Given the description of an element on the screen output the (x, y) to click on. 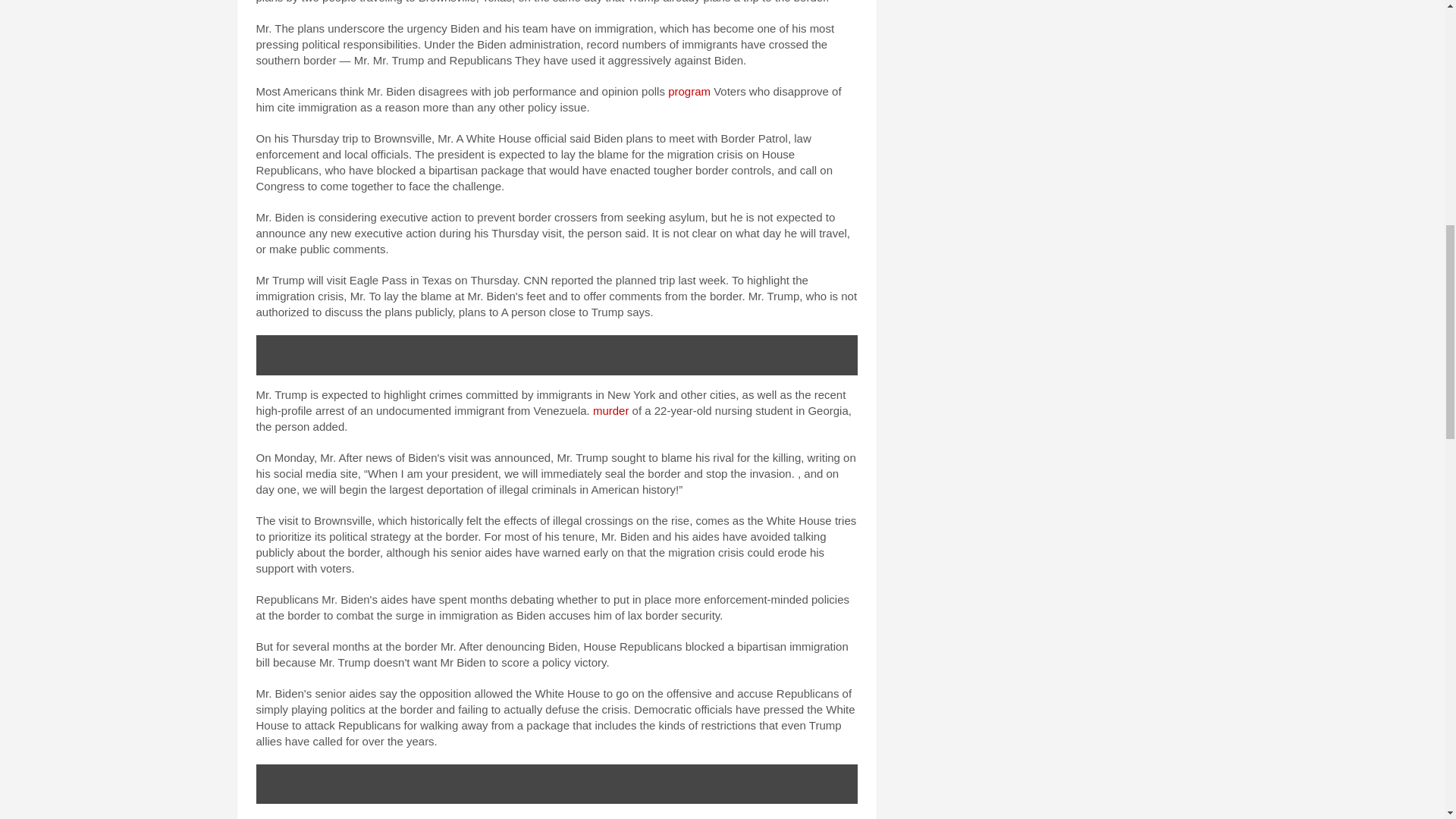
program (689, 91)
murder (610, 410)
